Given the description of an element on the screen output the (x, y) to click on. 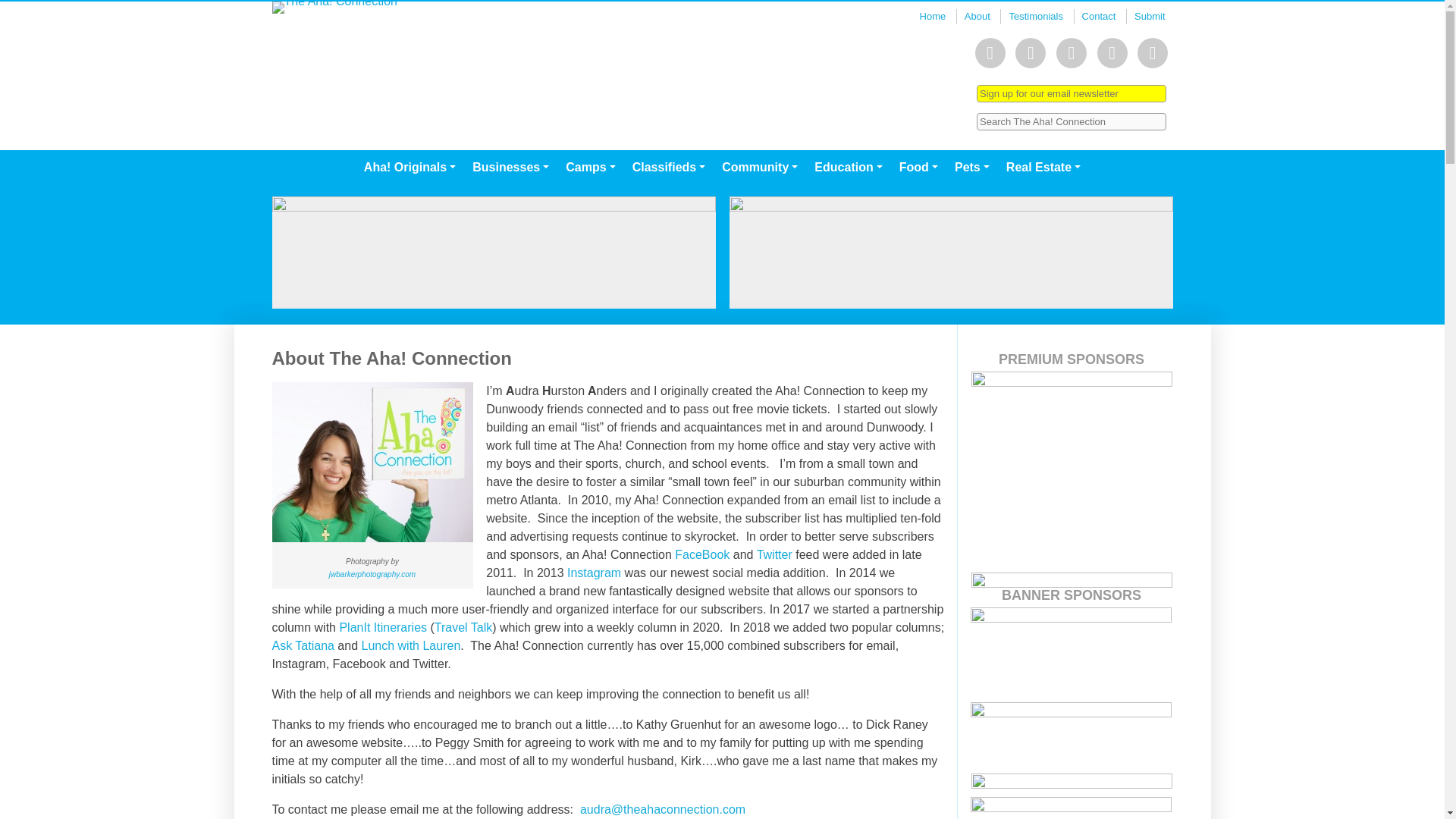
Contact (1099, 16)
Aha! Originals (409, 166)
Follow Us on Facebook (990, 52)
Businesses (510, 166)
Follow Us on X (1071, 52)
RSS Feed (1152, 52)
Submit (1149, 16)
The Aha! Connection (445, 7)
Testimonials (1035, 16)
